Given the description of an element on the screen output the (x, y) to click on. 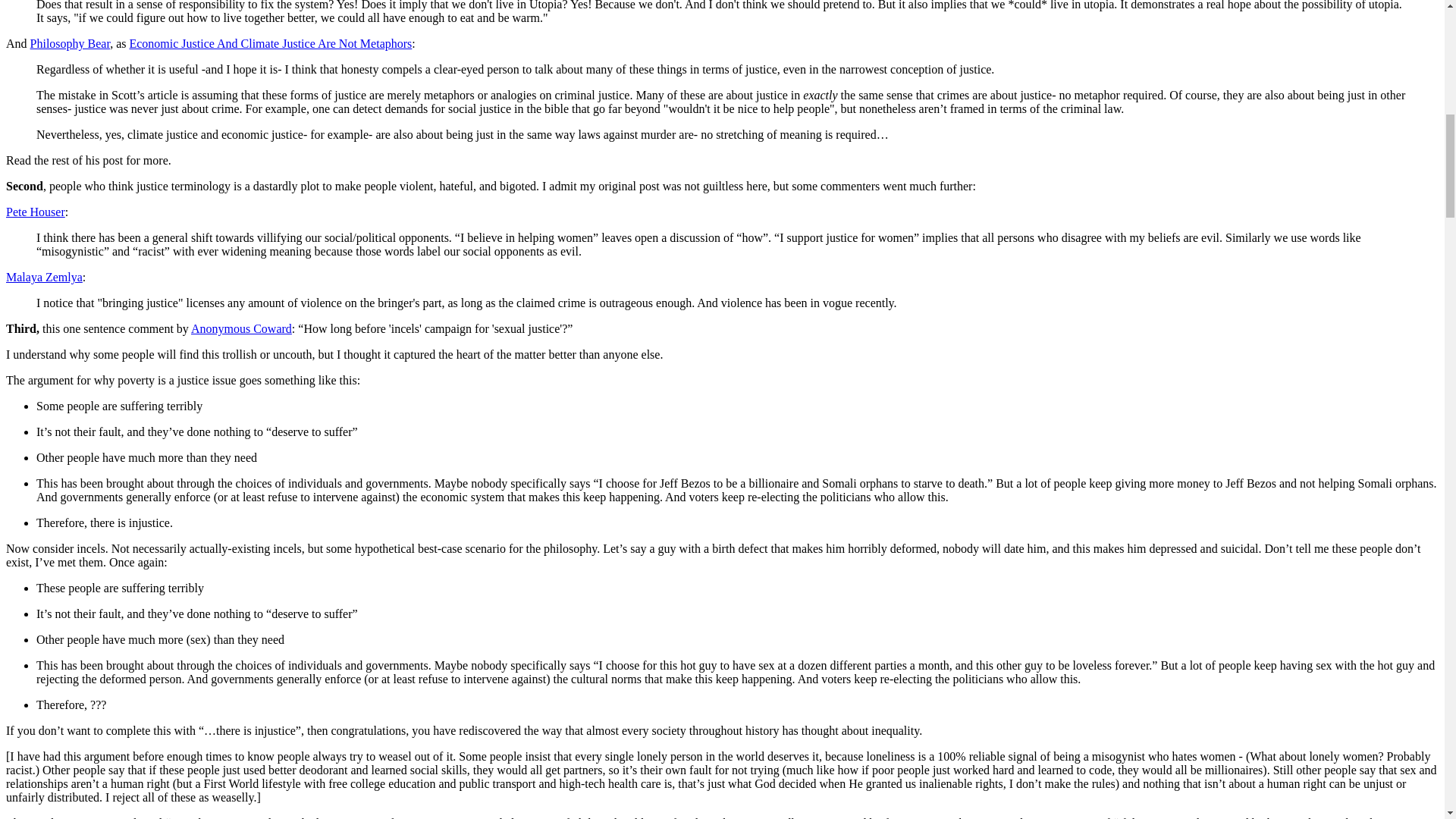
Philosophy Bear (70, 42)
Anonymous Coward (241, 328)
Pete Houser (35, 211)
Malaya Zemlya (43, 277)
Economic Justice And Climate Justice Are Not Metaphors (270, 42)
